Given the description of an element on the screen output the (x, y) to click on. 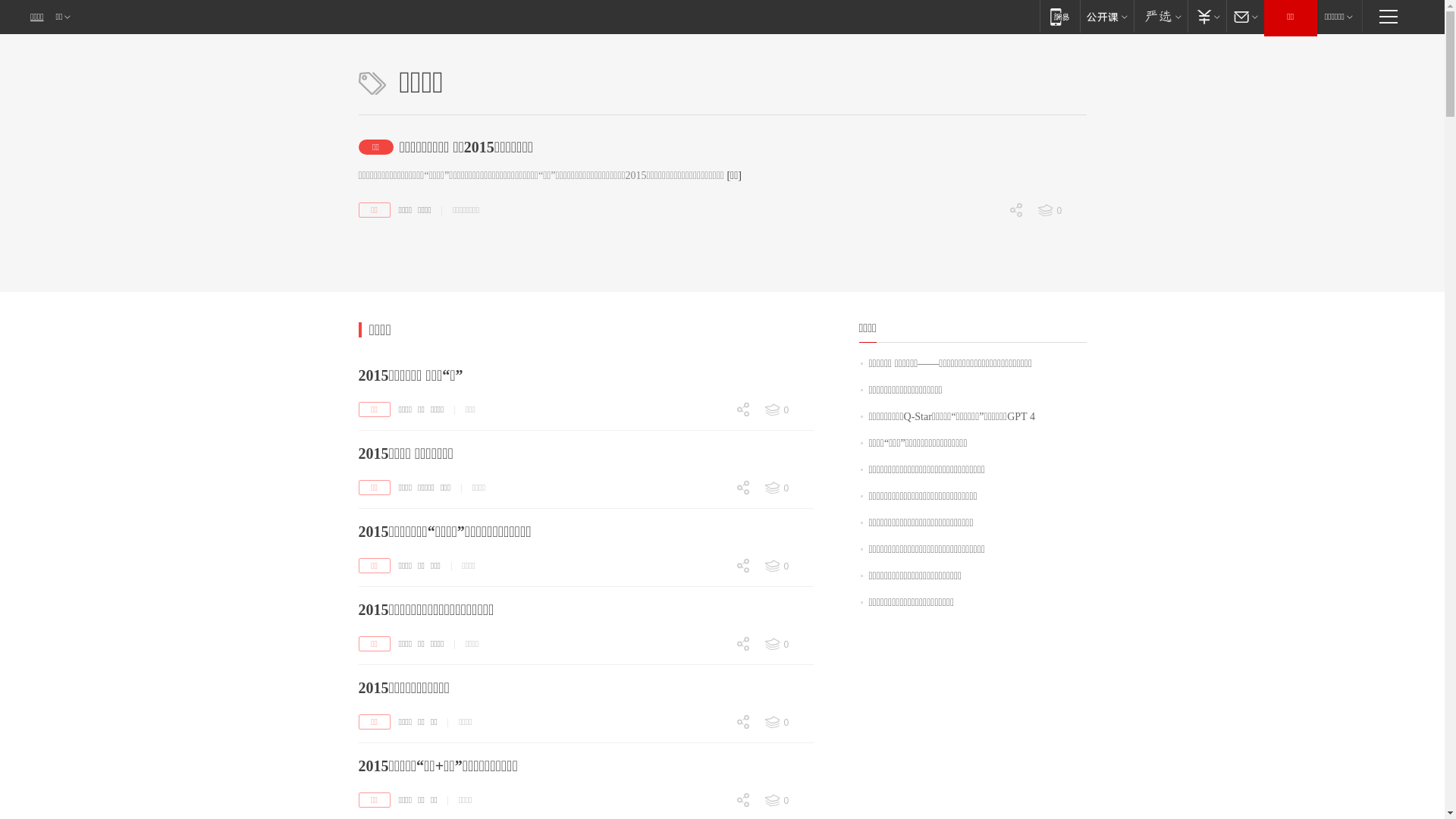
0 Element type: text (985, 289)
0 Element type: text (787, 644)
0 Element type: text (712, 749)
0 Element type: text (985, 316)
0 Element type: text (712, 567)
0 Element type: text (787, 722)
0 Element type: text (787, 800)
0 Element type: text (712, 592)
0 Element type: text (712, 801)
0 Element type: text (712, 671)
0 Element type: text (1060, 210)
0 Element type: text (985, 236)
0 Element type: text (712, 593)
0 Element type: text (712, 670)
0 Element type: text (787, 409)
0 Element type: text (787, 488)
0 Element type: text (712, 515)
0 Element type: text (712, 723)
0 Element type: text (712, 436)
0 Element type: text (712, 514)
0 Element type: text (712, 489)
0 Element type: text (712, 645)
0 Element type: text (712, 748)
0 Element type: text (787, 566)
